Given the description of an element on the screen output the (x, y) to click on. 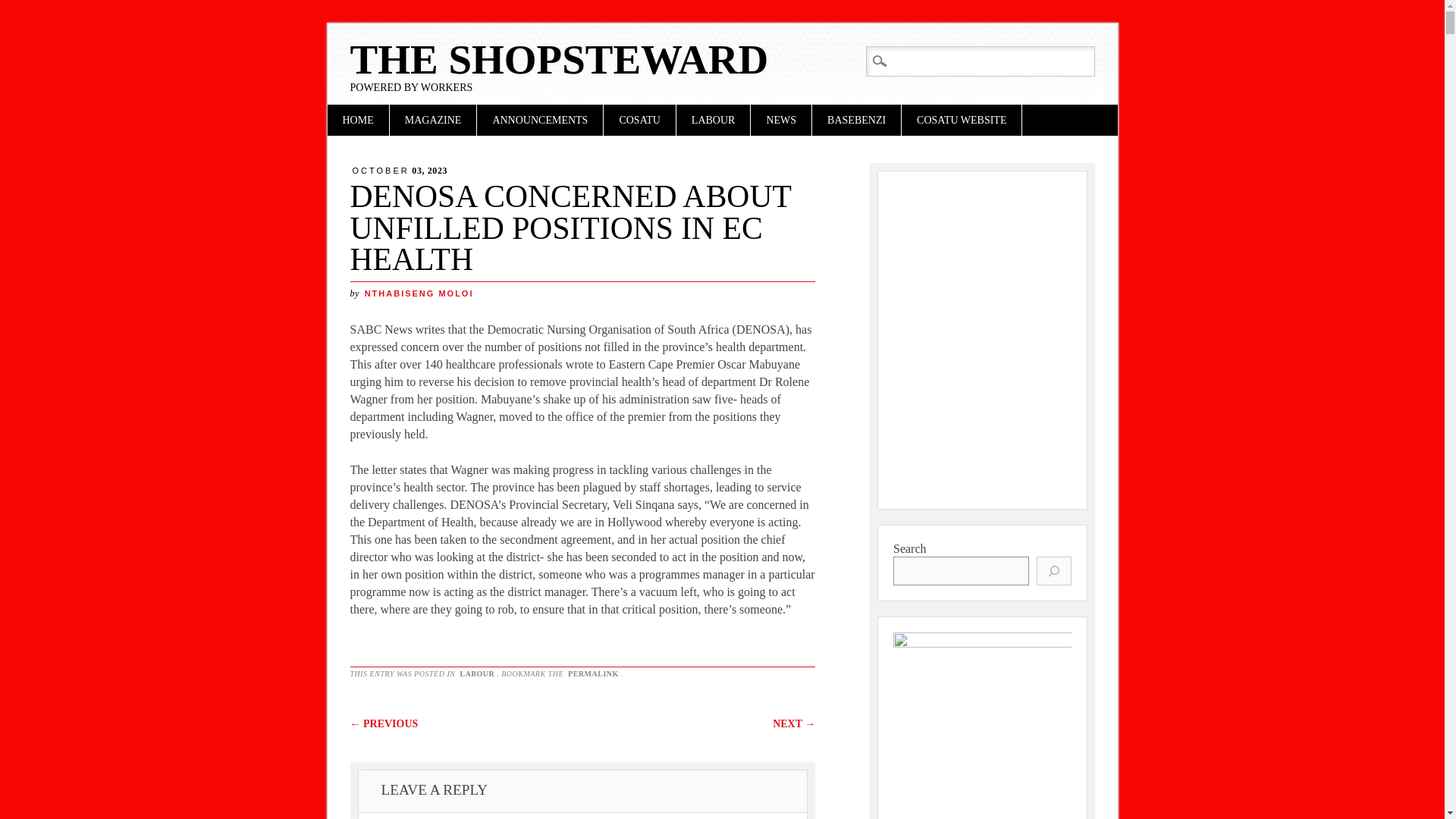
BASEBENZI (856, 119)
The Shopsteward (559, 59)
MAGAZINE (433, 119)
COSATU WEBSITE (961, 119)
COSATU (639, 119)
THE SHOPSTEWARD (559, 59)
NTHABISENG MOLOI (419, 293)
LABOUR (714, 119)
10:10 am (399, 170)
